Given the description of an element on the screen output the (x, y) to click on. 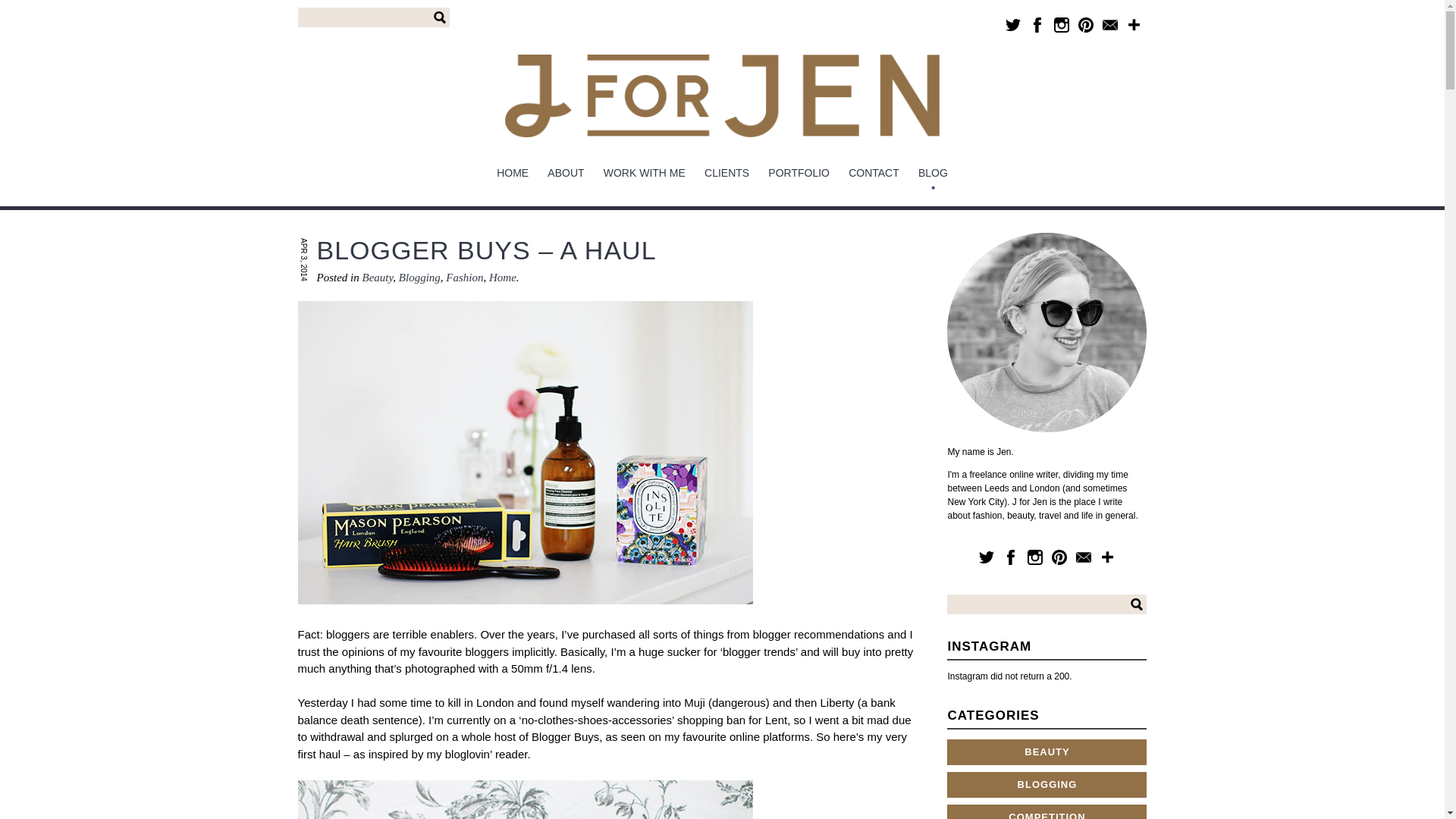
PORTFOLIO (799, 173)
BLOG (932, 173)
things bloggers buy by jenlittlebird, on Flickr (524, 617)
CLIENTS (727, 173)
Blogging (419, 277)
CONTACT (874, 173)
Fashion (464, 277)
Home (502, 277)
HOME (513, 173)
WORK WITH ME (644, 173)
